Given the description of an element on the screen output the (x, y) to click on. 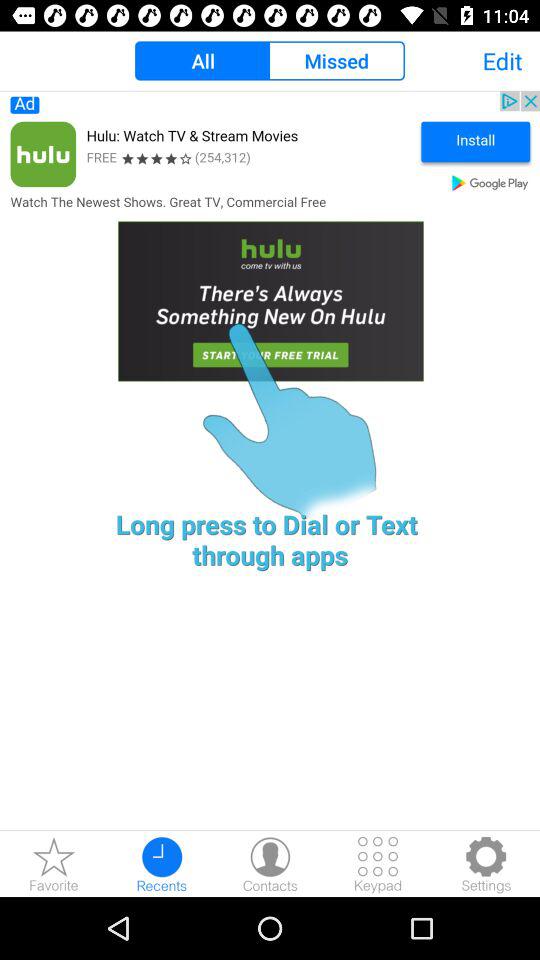
choose this icon (270, 255)
